Given the description of an element on the screen output the (x, y) to click on. 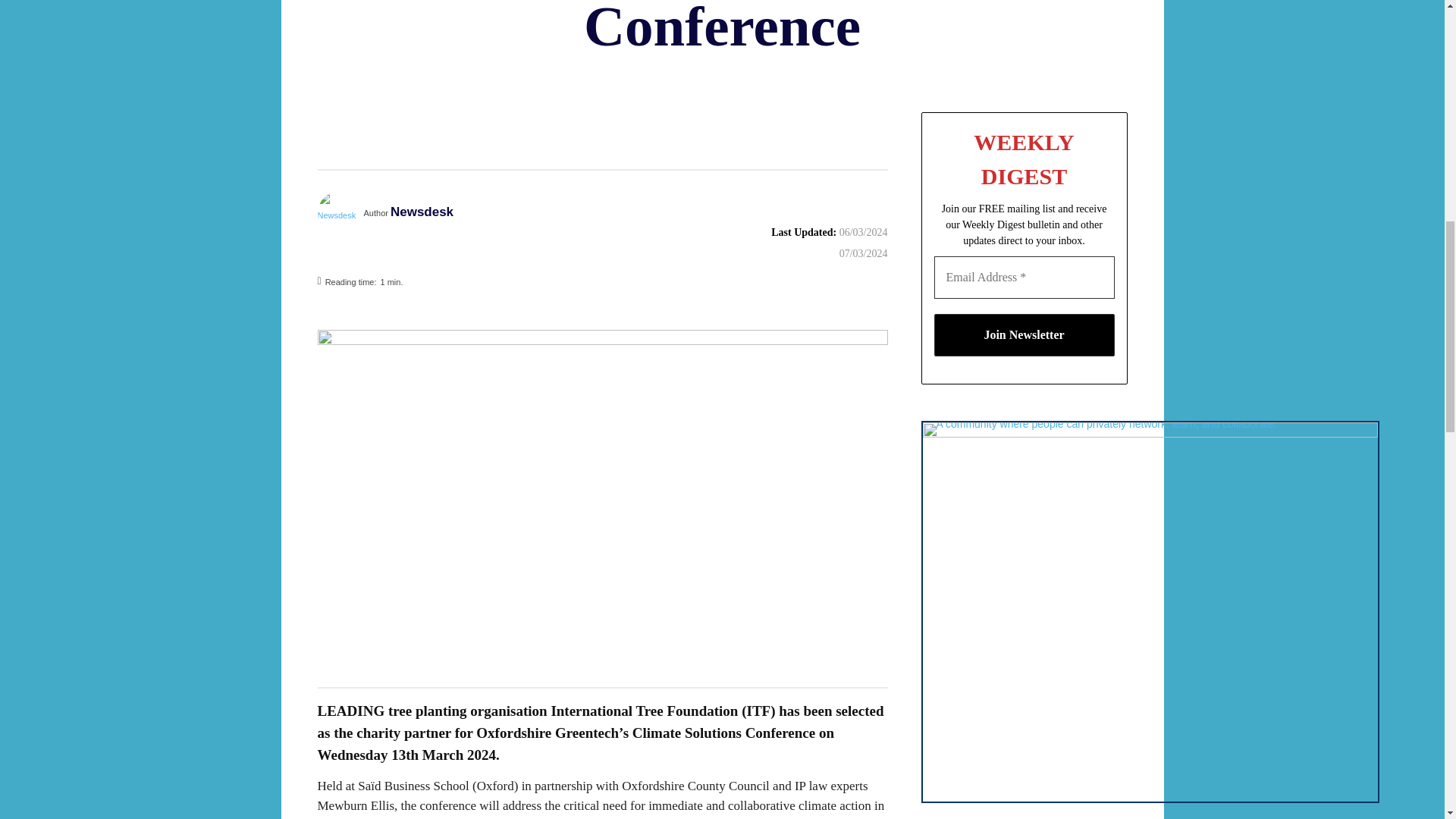
Join Newsletter (1024, 334)
